Given the description of an element on the screen output the (x, y) to click on. 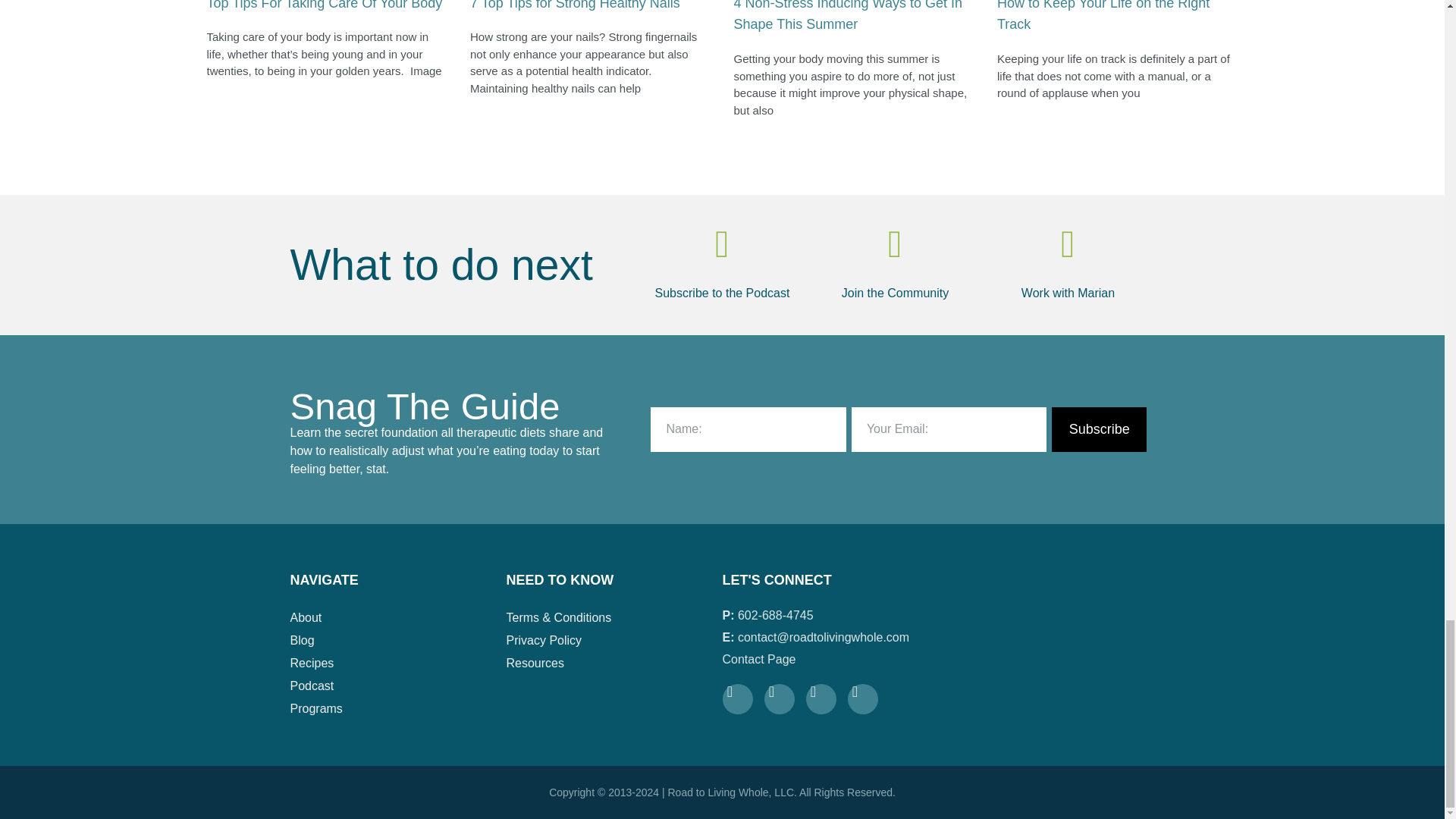
Top Tips For Taking Care Of Your Body (324, 5)
